Given the description of an element on the screen output the (x, y) to click on. 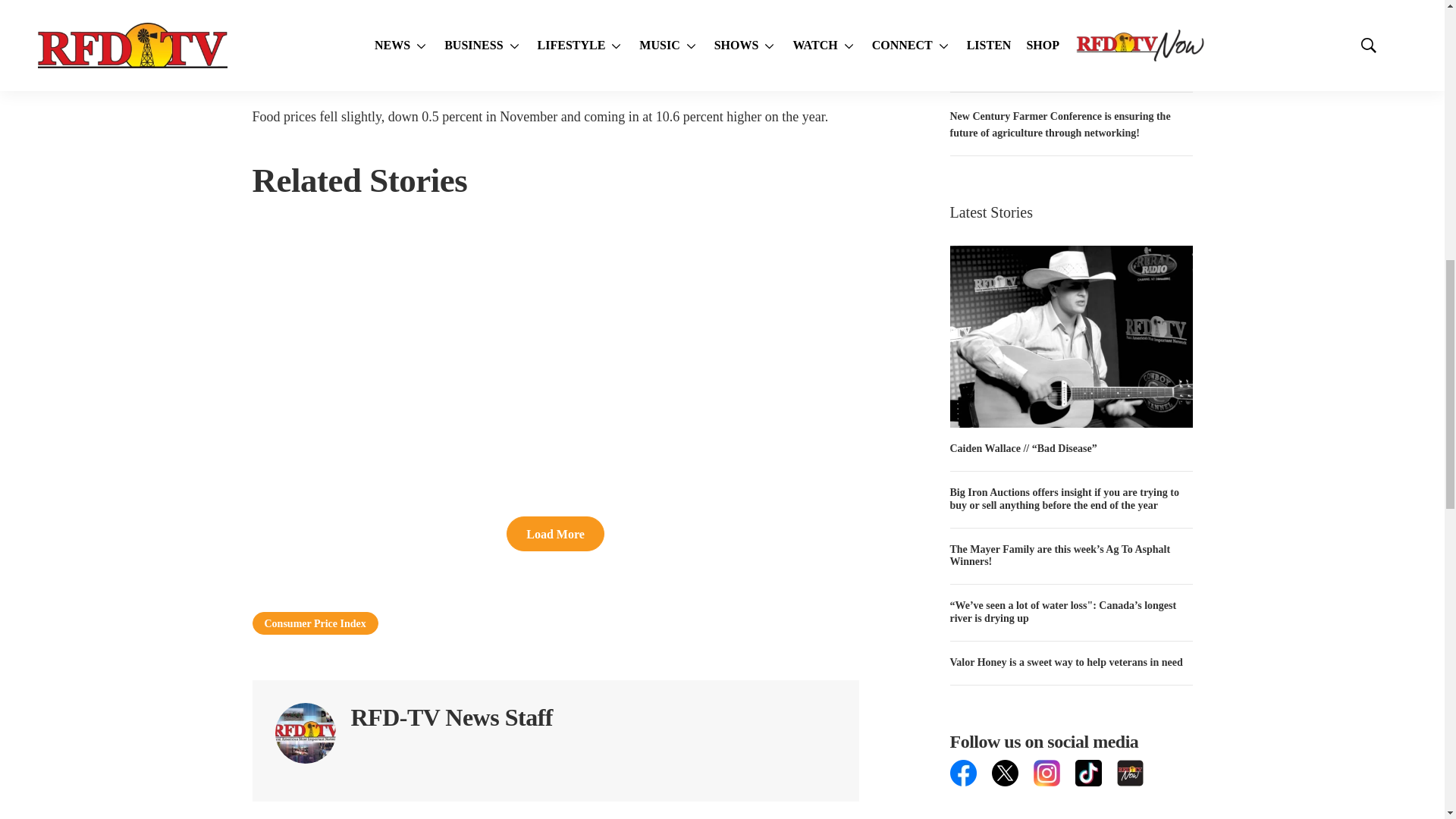
Signup Widget Embed (1070, 802)
